Given the description of an element on the screen output the (x, y) to click on. 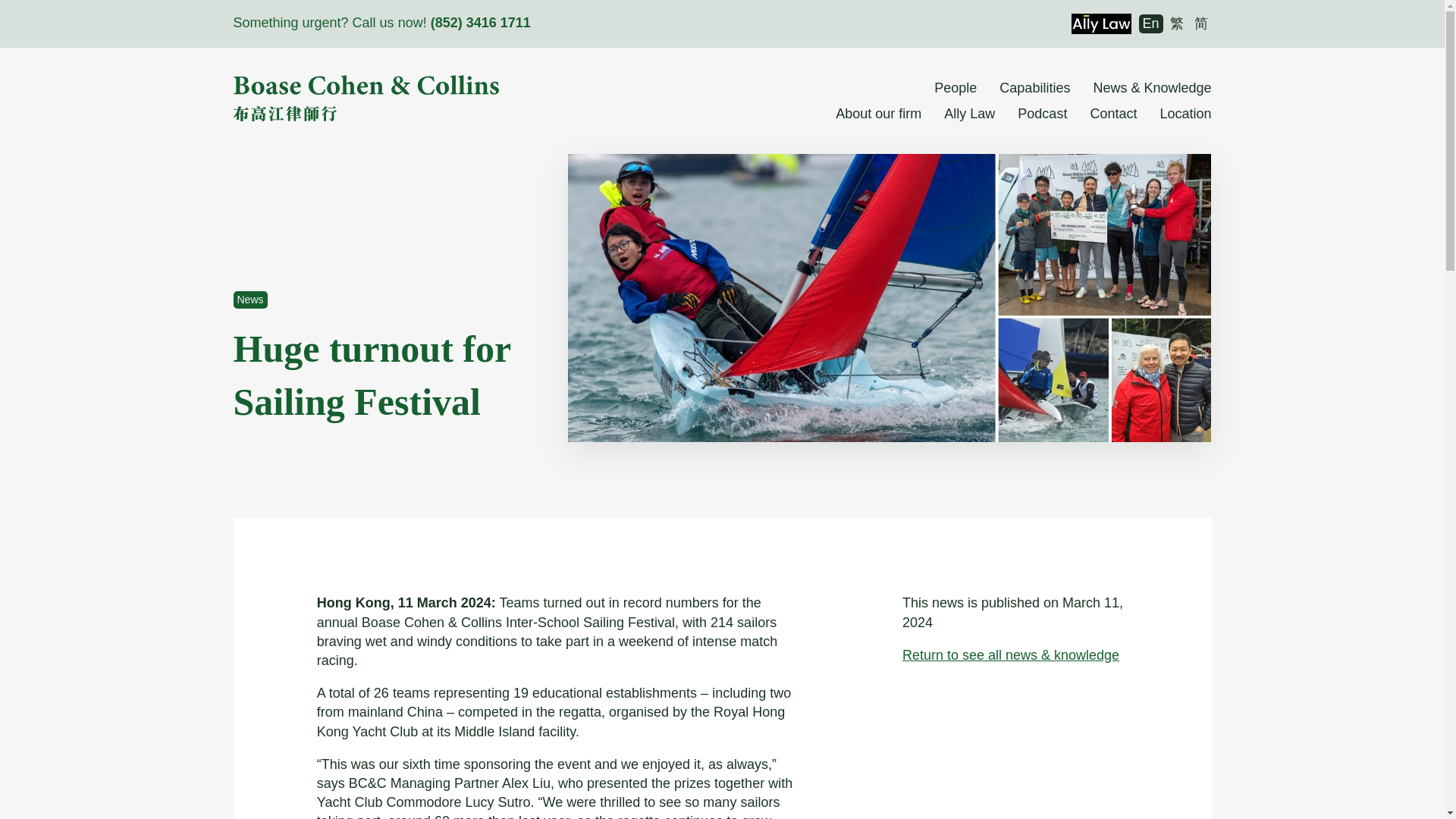
People (955, 87)
Podcast (1042, 113)
En (1150, 23)
Ally Law (968, 113)
Location (1184, 113)
Capabilities (1034, 87)
Contact (1113, 113)
About our firm (878, 113)
